Given the description of an element on the screen output the (x, y) to click on. 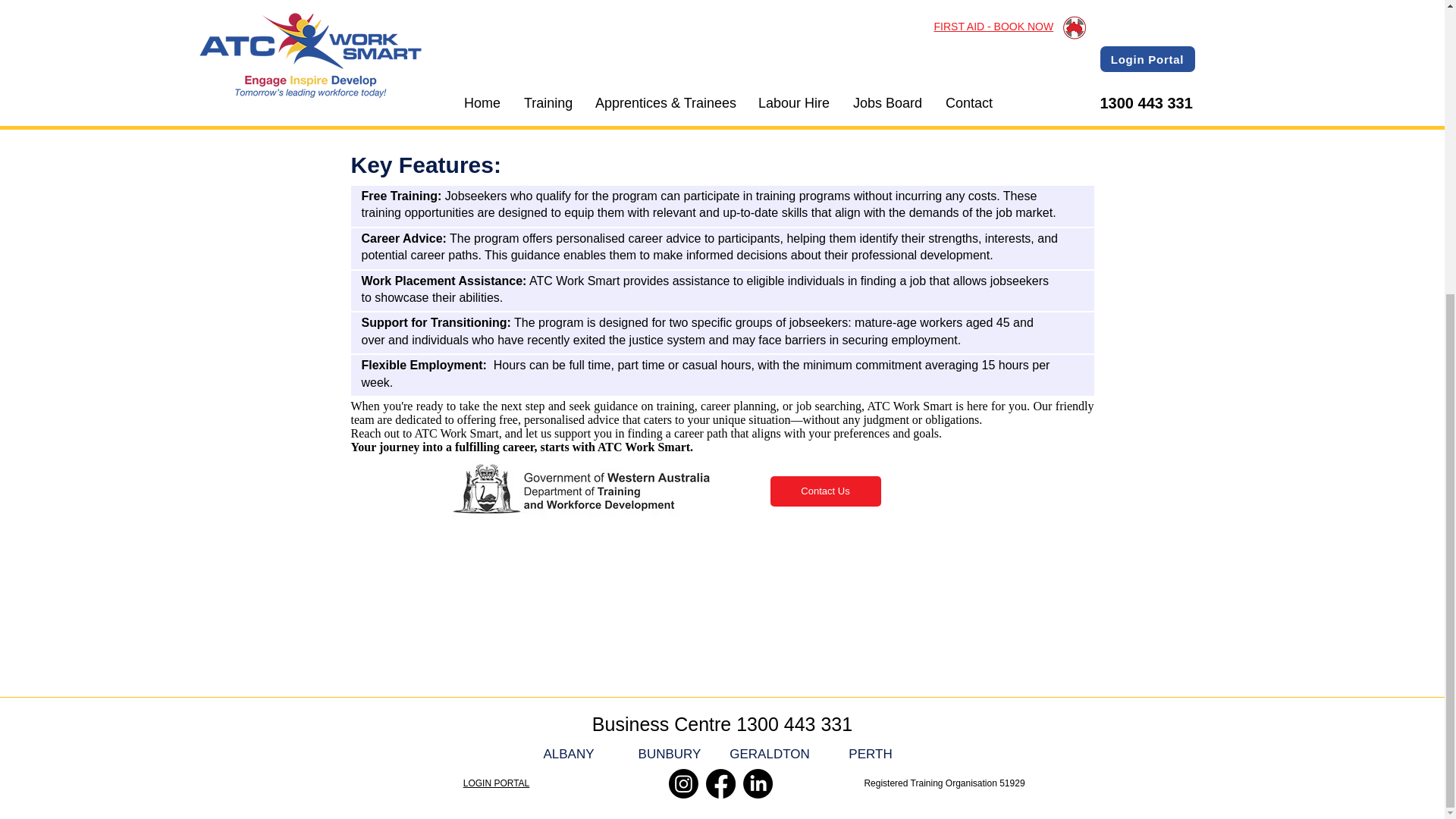
Contact Us (825, 490)
LOGIN PORTAL (496, 782)
